Given the description of an element on the screen output the (x, y) to click on. 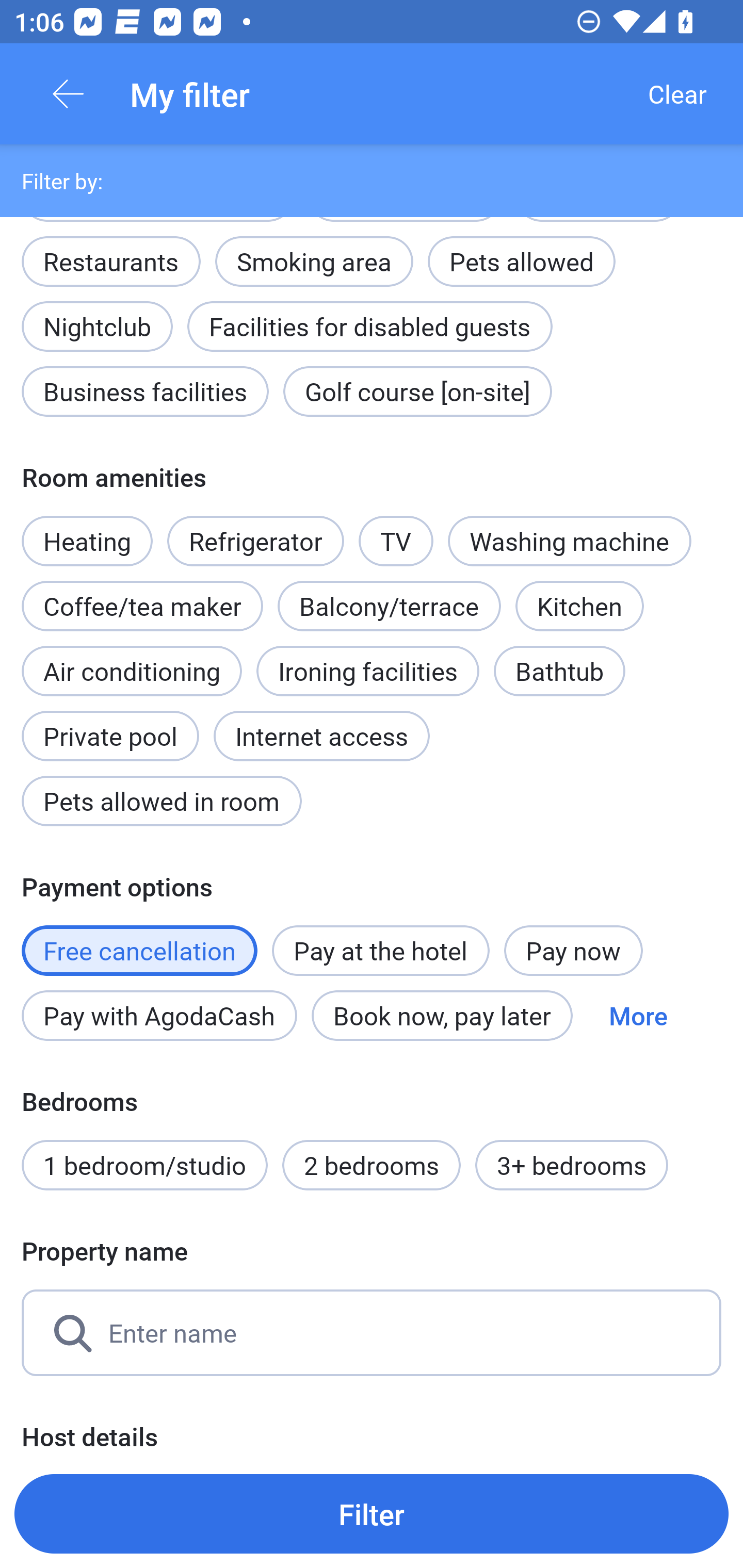
Clear (676, 93)
Restaurants (110, 260)
Smoking area (314, 250)
Pets allowed (521, 260)
Nightclub (97, 315)
Facilities for disabled guests (369, 326)
Business facilities (144, 391)
Golf course [on-site] (417, 391)
Heating (87, 529)
Refrigerator (255, 540)
TV (395, 529)
Washing machine (569, 540)
Coffee/tea maker (142, 605)
Balcony/terrace (388, 605)
Kitchen (579, 605)
Air conditioning (131, 671)
Ironing facilities (367, 671)
Bathtub (559, 671)
Private pool (110, 725)
Internet access (321, 736)
Pets allowed in room (161, 800)
Pay at the hotel (380, 950)
Pay now (572, 950)
Pay with AgodaCash (159, 1015)
Book now, pay later (441, 1015)
More (637, 1015)
1 bedroom/studio (144, 1164)
2 bedrooms (371, 1164)
3+ bedrooms (571, 1164)
Enter name (371, 1332)
Filter (371, 1513)
